Given the description of an element on the screen output the (x, y) to click on. 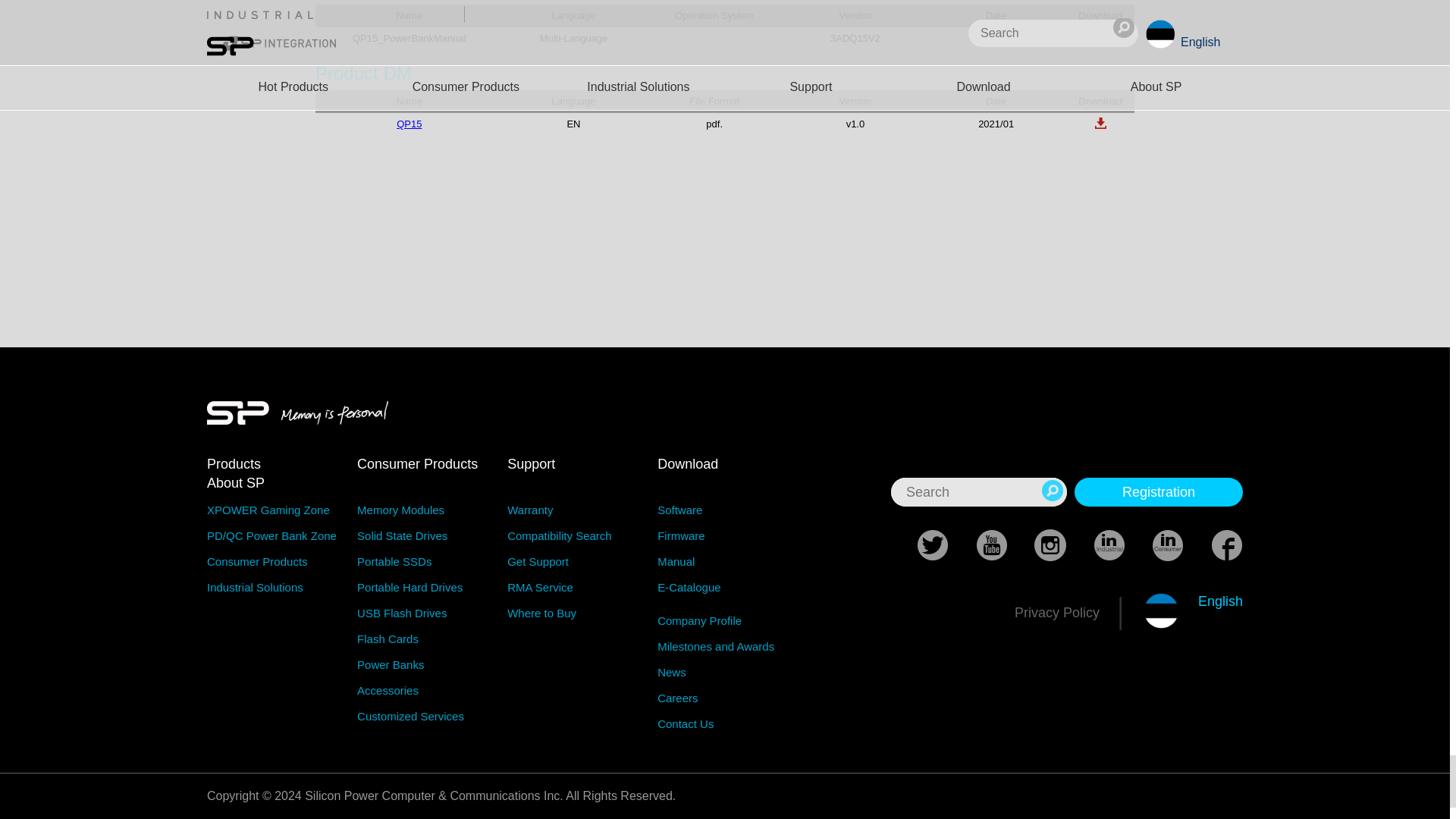
youtube (978, 545)
Instagram (1037, 545)
facebook (1213, 545)
twitter (919, 545)
